Given the description of an element on the screen output the (x, y) to click on. 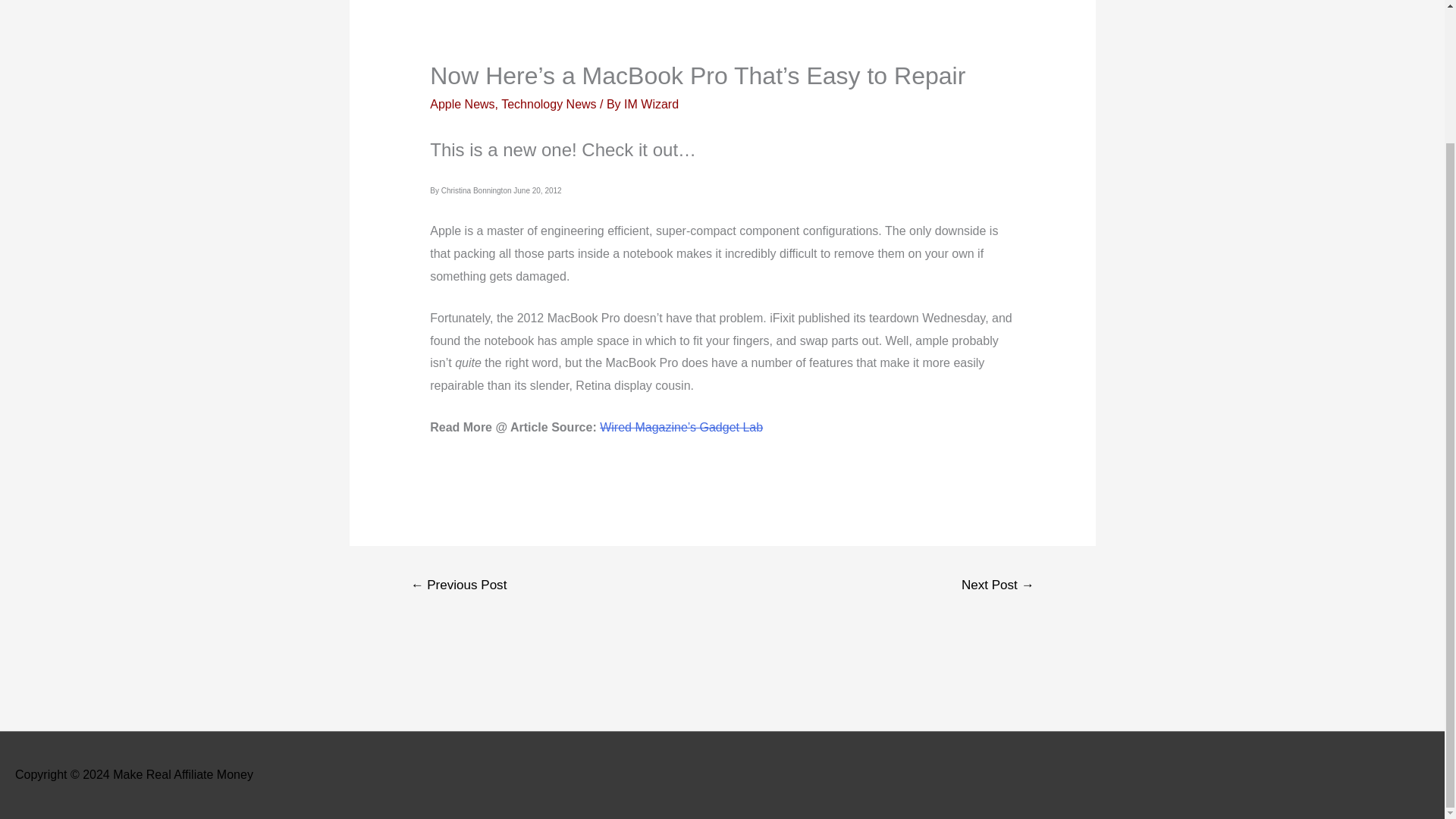
IM Wizard (651, 103)
Technology News (547, 103)
Apple News (462, 103)
View all posts by IM Wizard (651, 103)
